Given the description of an element on the screen output the (x, y) to click on. 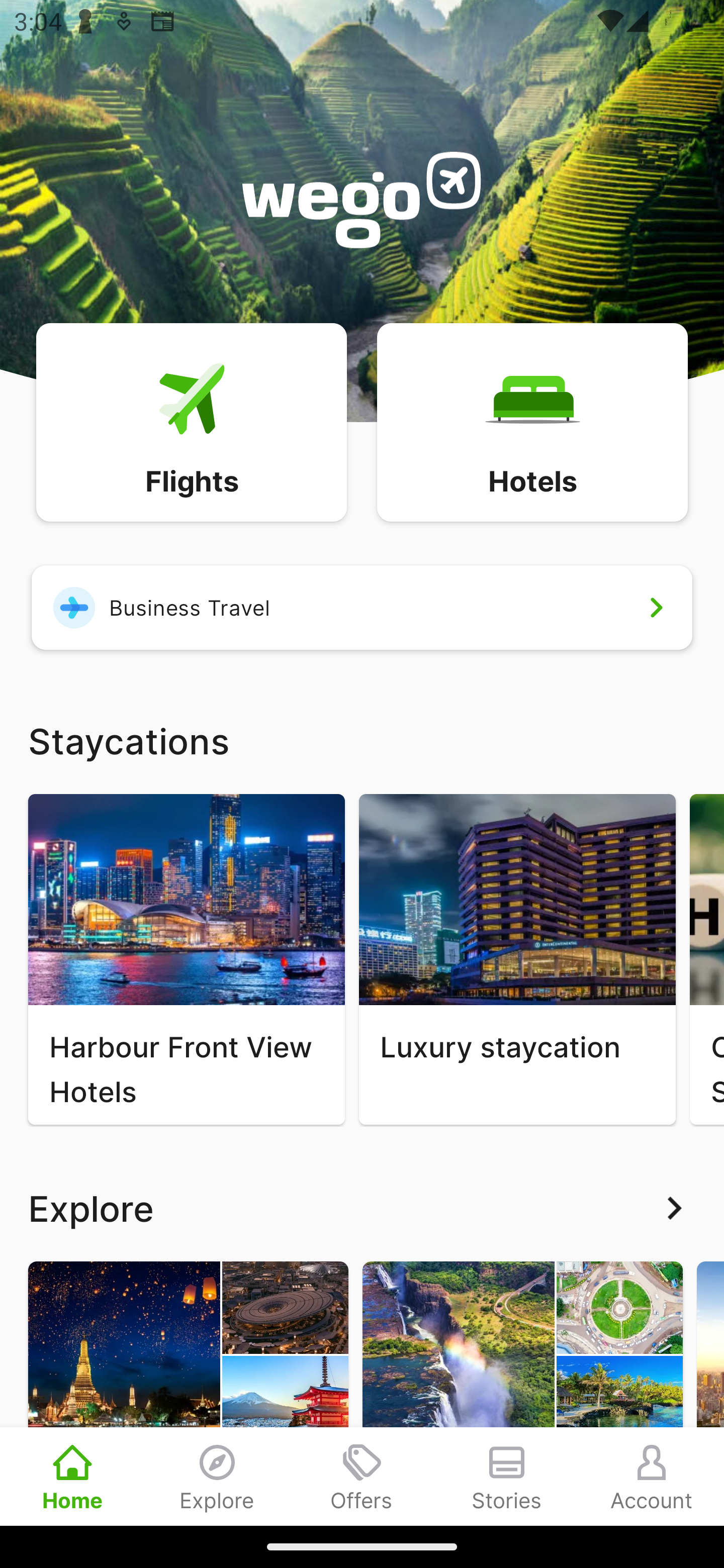
Flights (191, 420)
Hotels (532, 420)
Business Travel (361, 607)
Staycations (362, 739)
Harbour Front View Hotels (186, 958)
Luxury staycation (517, 958)
Explore (362, 1207)
Popular Destinations (188, 1392)
Visa-free Countries (522, 1392)
Explore (216, 1475)
Offers (361, 1475)
Stories (506, 1475)
Account (651, 1475)
